Given the description of an element on the screen output the (x, y) to click on. 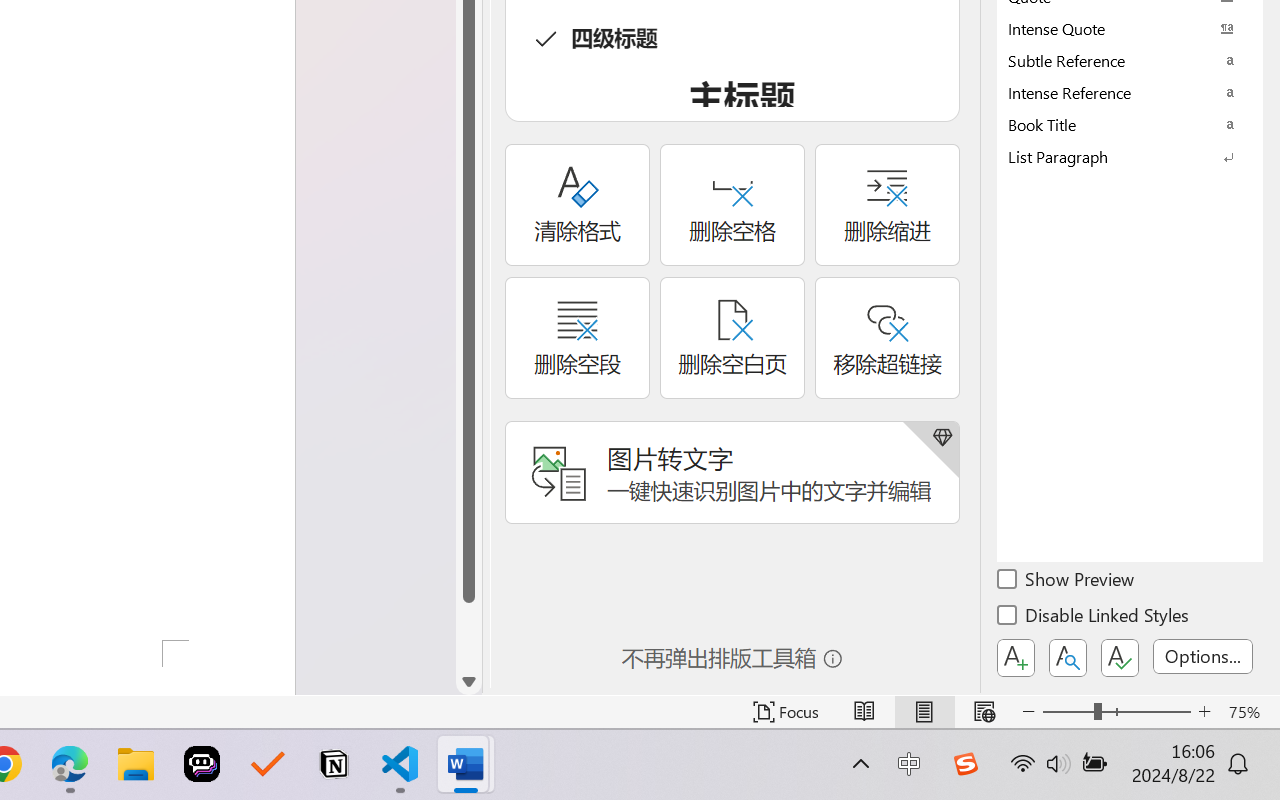
Intense Quote (1130, 28)
Disable Linked Styles (1094, 618)
Class: NetUIImage (1116, 156)
Zoom In (1204, 712)
Subtle Reference (1130, 60)
Class: NetUIButton (1119, 657)
List Paragraph (1130, 156)
Class: Image (965, 764)
Focus  (786, 712)
Print Layout (924, 712)
